Given the description of an element on the screen output the (x, y) to click on. 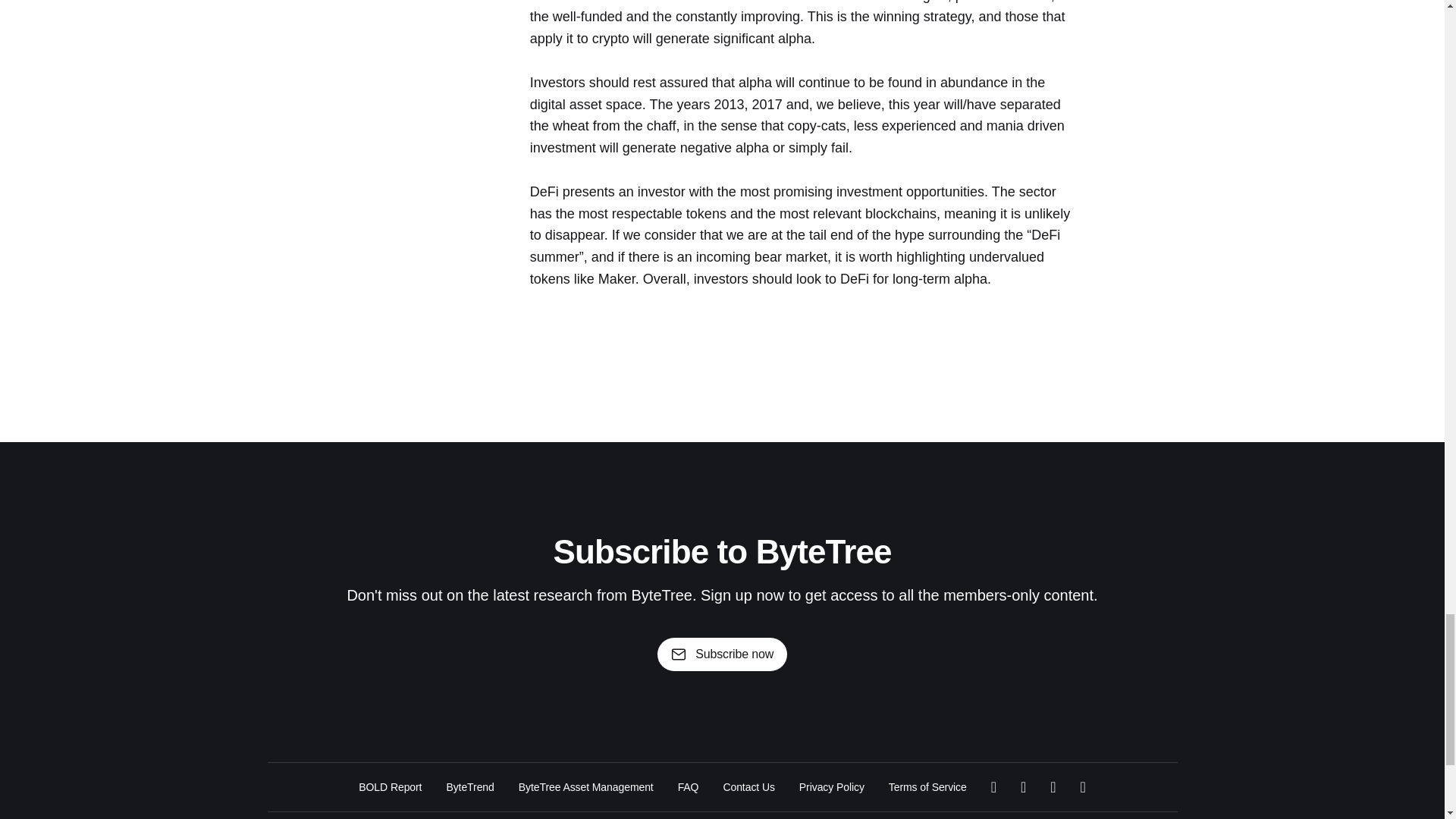
ByteTrend (469, 786)
FAQ (688, 786)
ByteTree Asset Management (585, 786)
Subscribe now (722, 654)
BOLD Report (390, 786)
Terms of Service (927, 786)
Contact Us (748, 786)
Privacy Policy (831, 786)
